Given the description of an element on the screen output the (x, y) to click on. 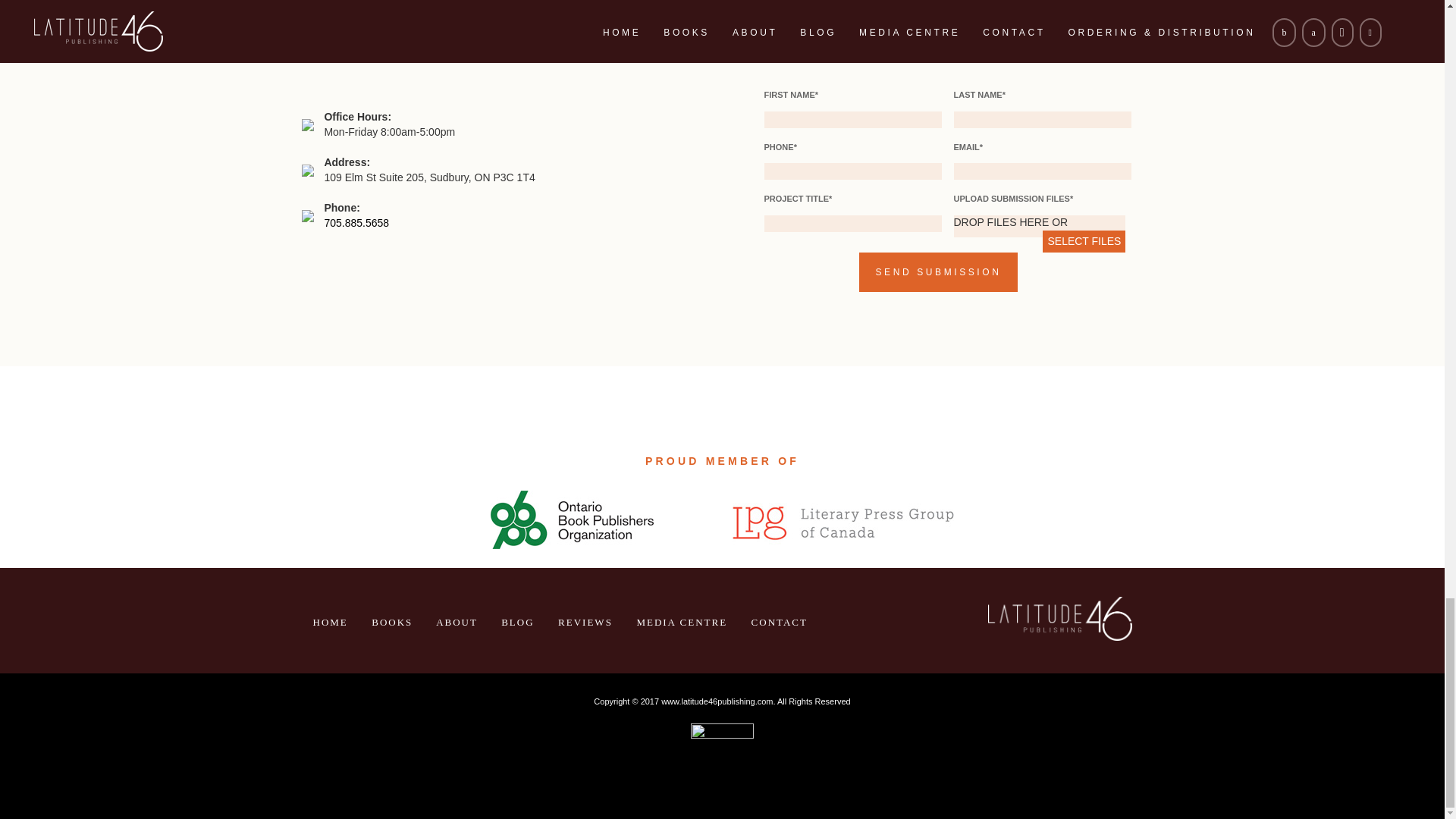
send submission (938, 271)
send submission (938, 271)
705.885.5658 (355, 223)
Select files (1083, 241)
Submission Guidelines (513, 55)
